Given the description of an element on the screen output the (x, y) to click on. 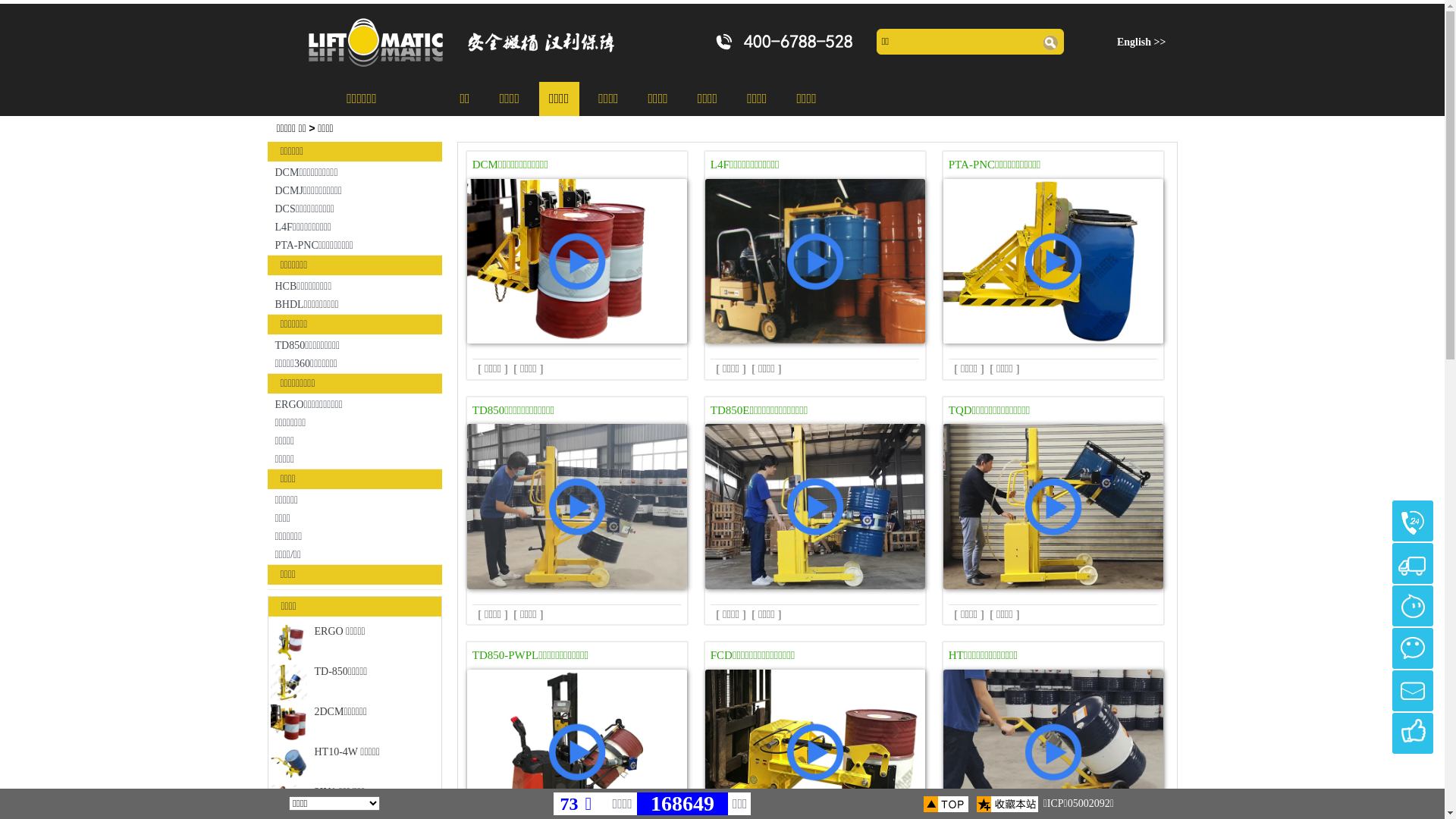
E-mail Element type: text (1412, 690)
English >> Element type: text (1141, 41)
